Given the description of an element on the screen output the (x, y) to click on. 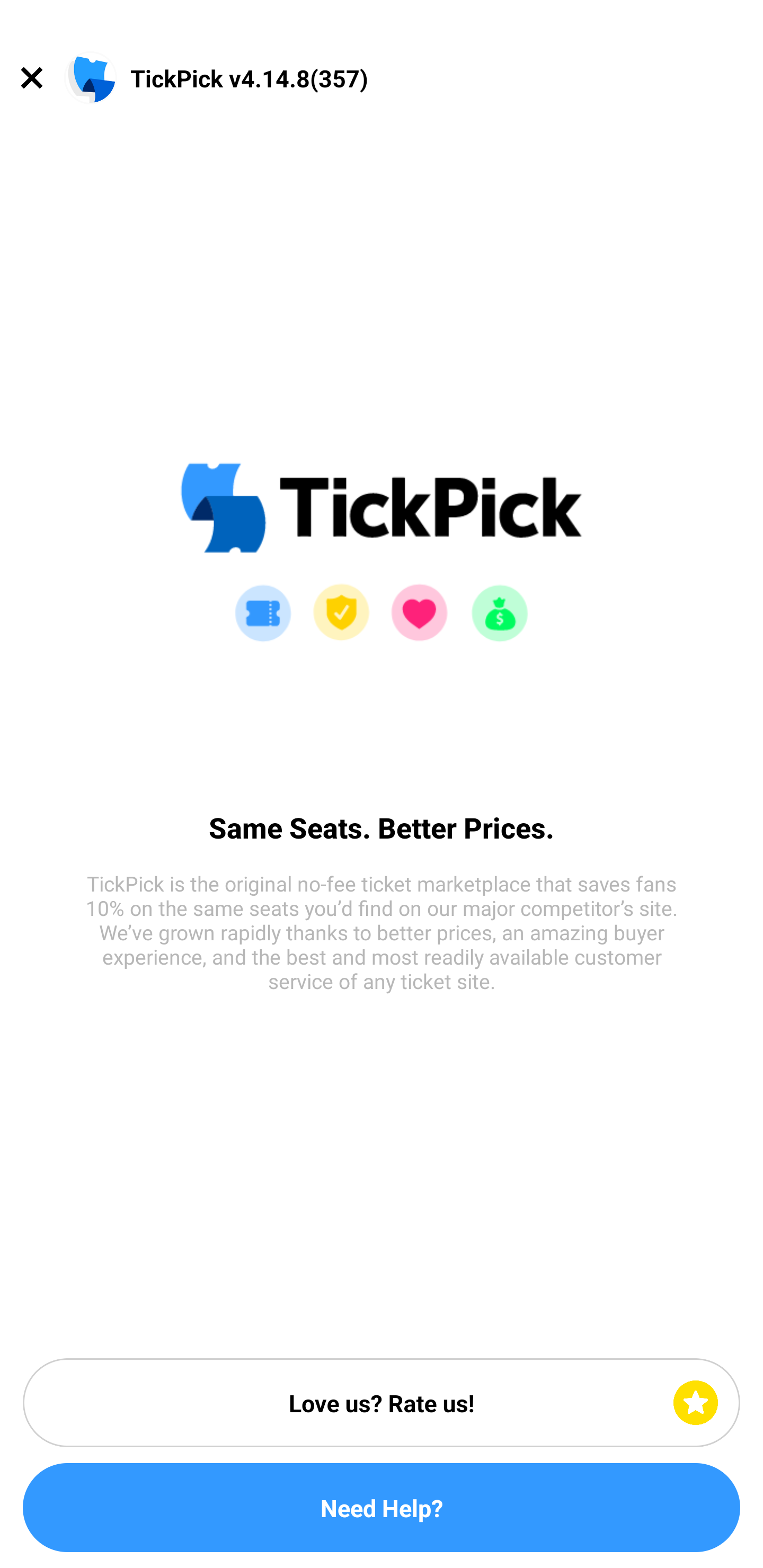
Love us? Rate us! (381, 1402)
Need Help? (381, 1507)
